Given the description of an element on the screen output the (x, y) to click on. 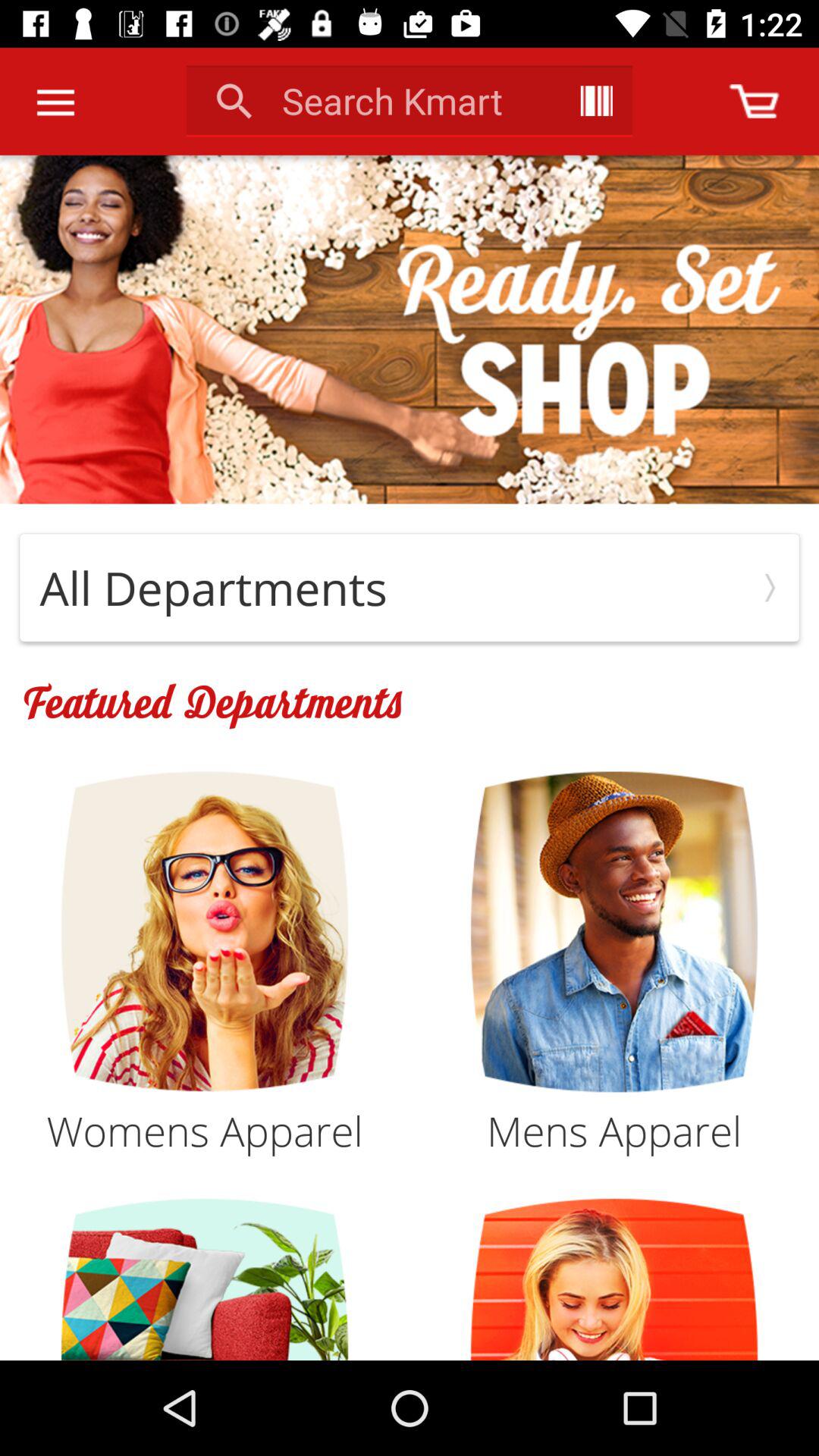
open shopping cart (754, 101)
